Given the description of an element on the screen output the (x, y) to click on. 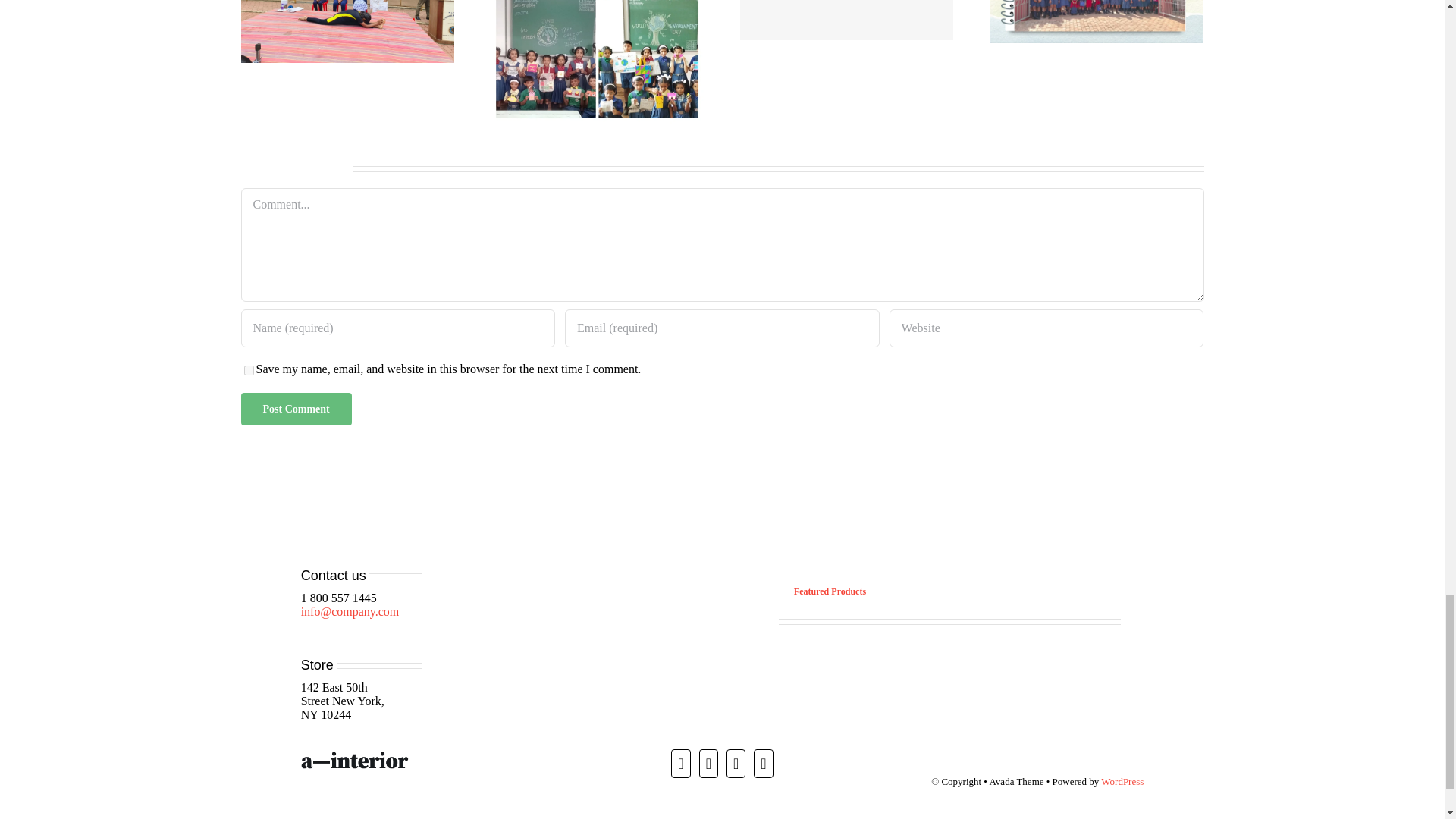
Post Comment (296, 409)
yes (248, 370)
